Given the description of an element on the screen output the (x, y) to click on. 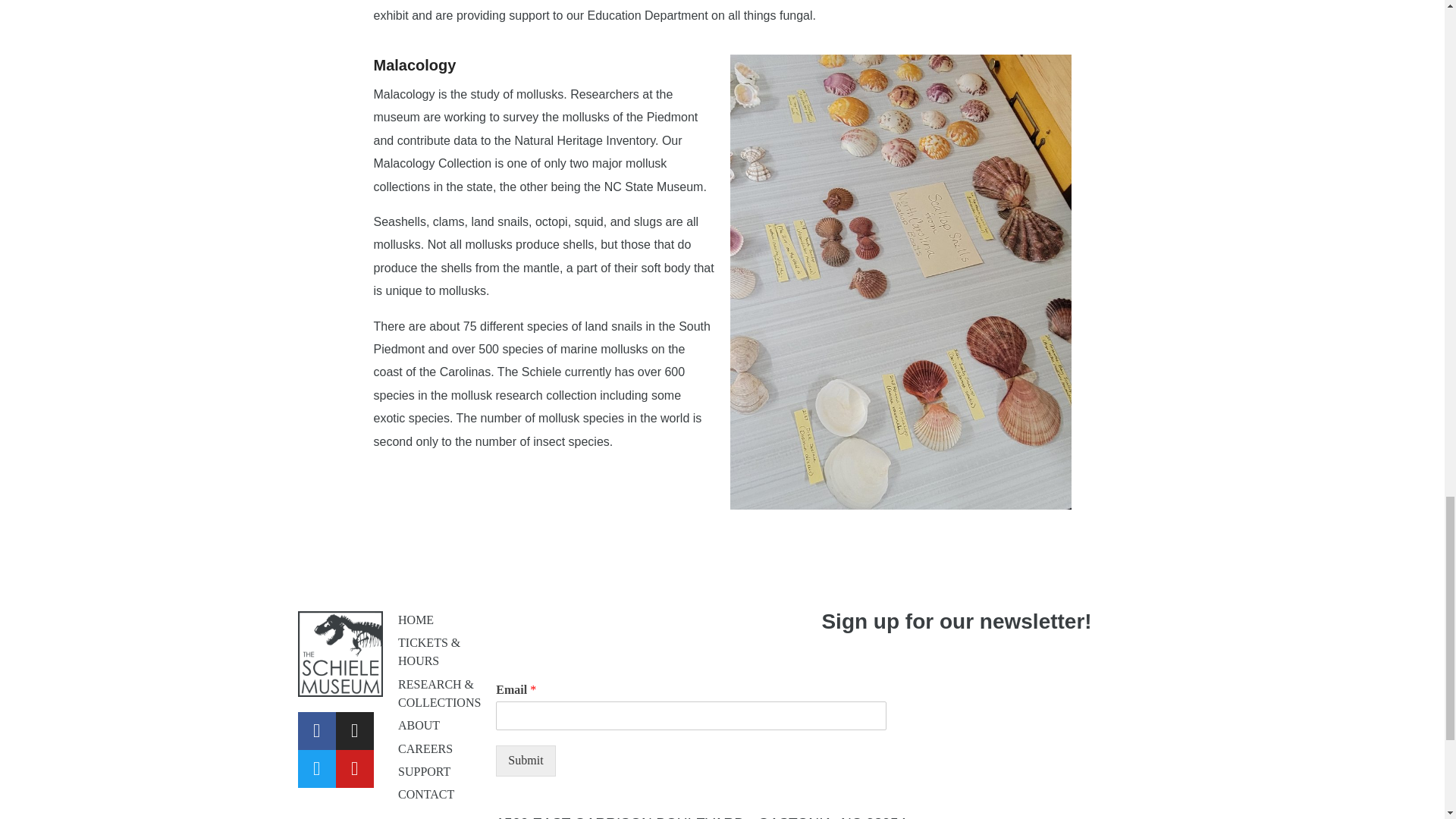
HOME (415, 619)
SUPPORT (423, 771)
CAREERS (424, 748)
ABOUT (418, 725)
Submit (525, 760)
CONTACT (425, 793)
